Given the description of an element on the screen output the (x, y) to click on. 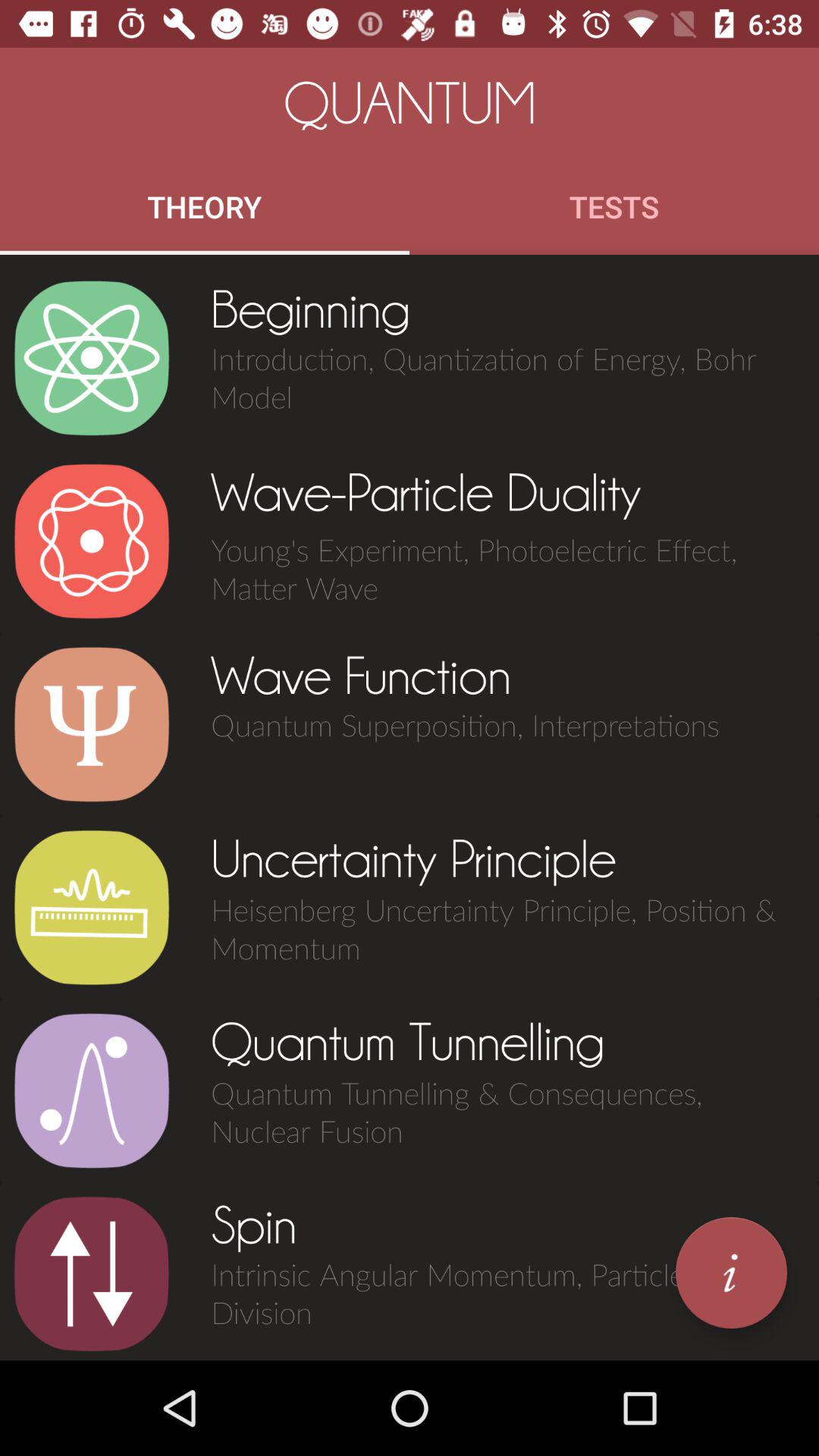
start quantum tunneling module (91, 1090)
